Given the description of an element on the screen output the (x, y) to click on. 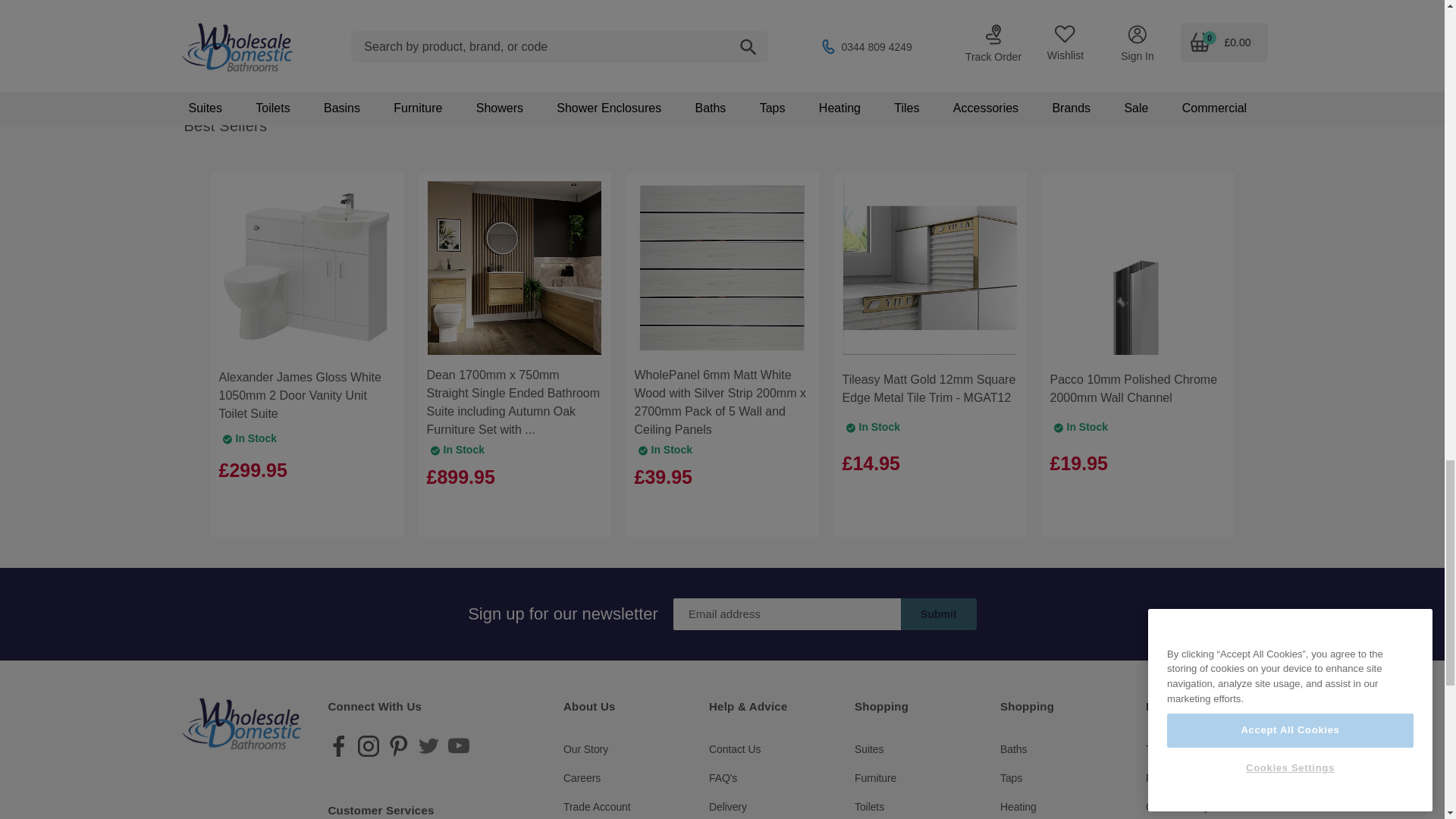
Submit (938, 613)
